Given the description of an element on the screen output the (x, y) to click on. 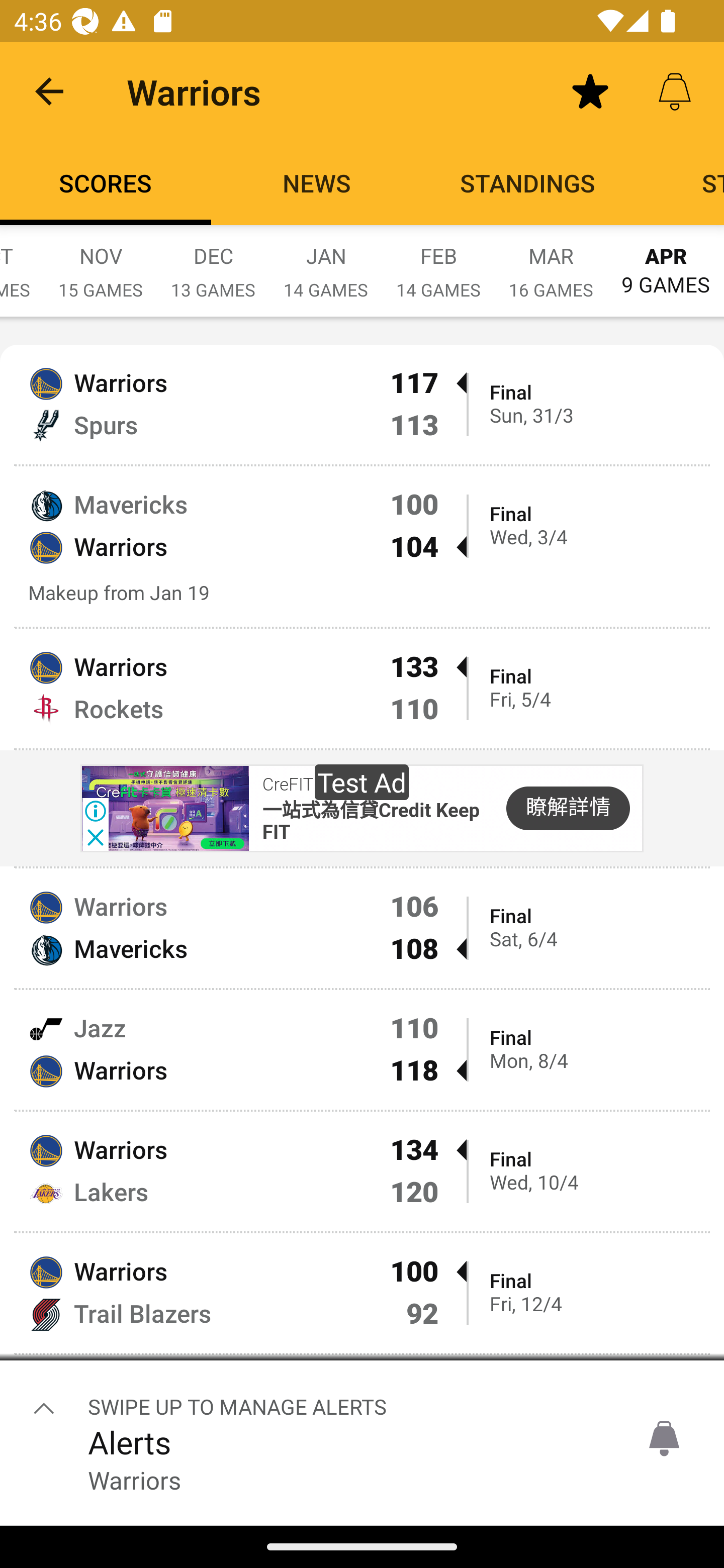
back.button (49, 90)
Favorite toggle (590, 90)
Alerts (674, 90)
News NEWS (316, 183)
Standings STANDINGS (527, 183)
NOV 15 GAMES (100, 262)
DEC 13 GAMES (213, 262)
JAN 14 GAMES (325, 262)
FEB 14 GAMES (438, 262)
MAR 16 GAMES (550, 262)
APR 9 GAMES (665, 261)
Warriors 117  Spurs 113 Final Sun, 31/3 (362, 404)
Warriors 133  Rockets 110 Final Fri, 5/4 (362, 687)
details%3Fid%3Dcom.vhk (164, 808)
CreFIT 維信 (307, 784)
瞭解詳情 (567, 808)
一站式為信貸Credit Keep FIT 一站式為信貸Credit Keep FIT (371, 822)
Warriors 106 Mavericks 108  Final Sat, 6/4 (362, 927)
Jazz 110 Warriors 118  Final Mon, 8/4 (362, 1049)
Warriors 134  Lakers 120 Final Wed, 10/4 (362, 1170)
Warriors 100  Trail Blazers 92 Final Fri, 12/4 (362, 1293)
 SWIPE UP TO MANAGE ALERTS Alerts ì Warriors (362, 1439)
 (44, 1407)
